Given the description of an element on the screen output the (x, y) to click on. 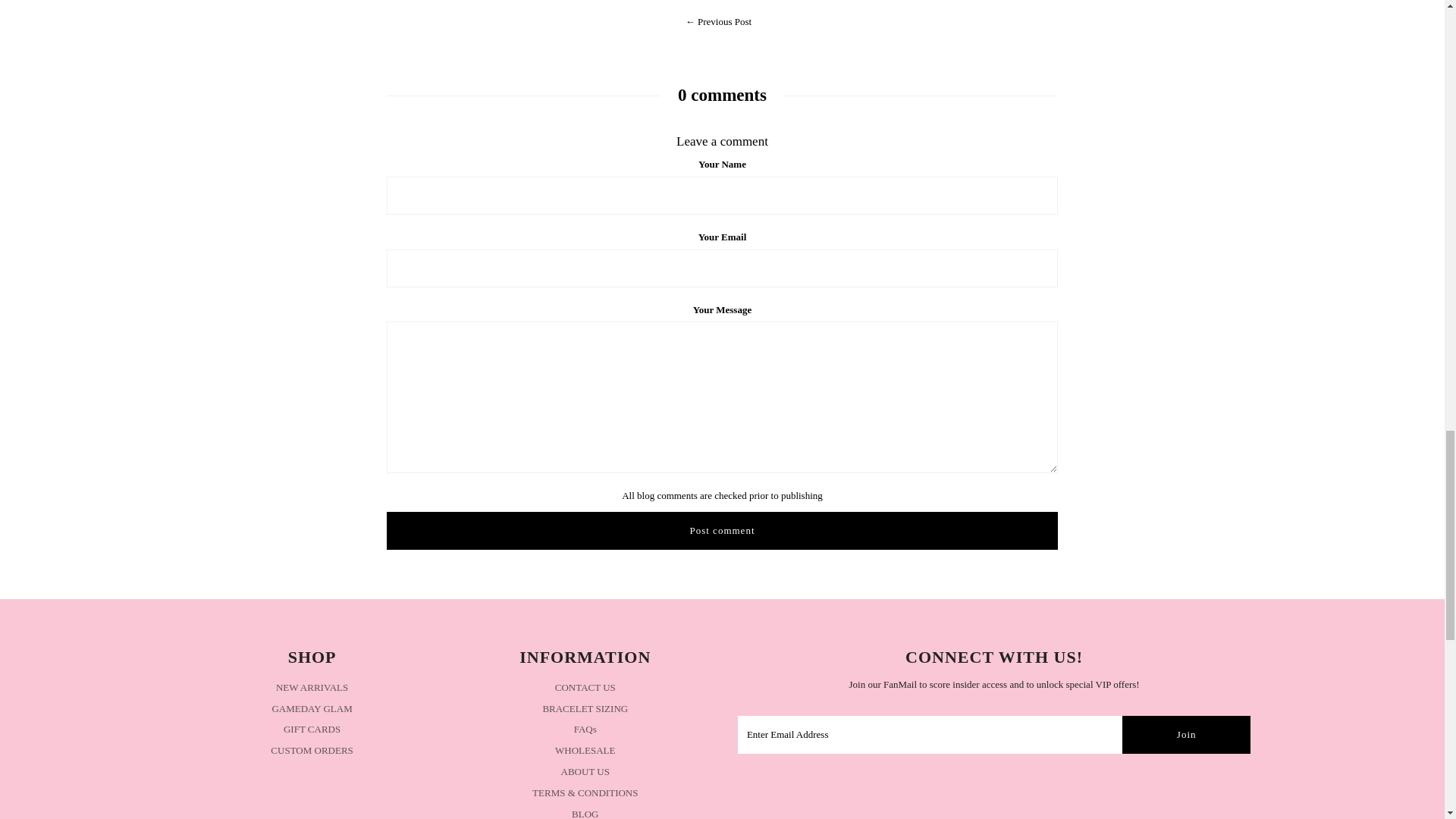
Join (1186, 734)
Post comment (722, 530)
